Given the description of an element on the screen output the (x, y) to click on. 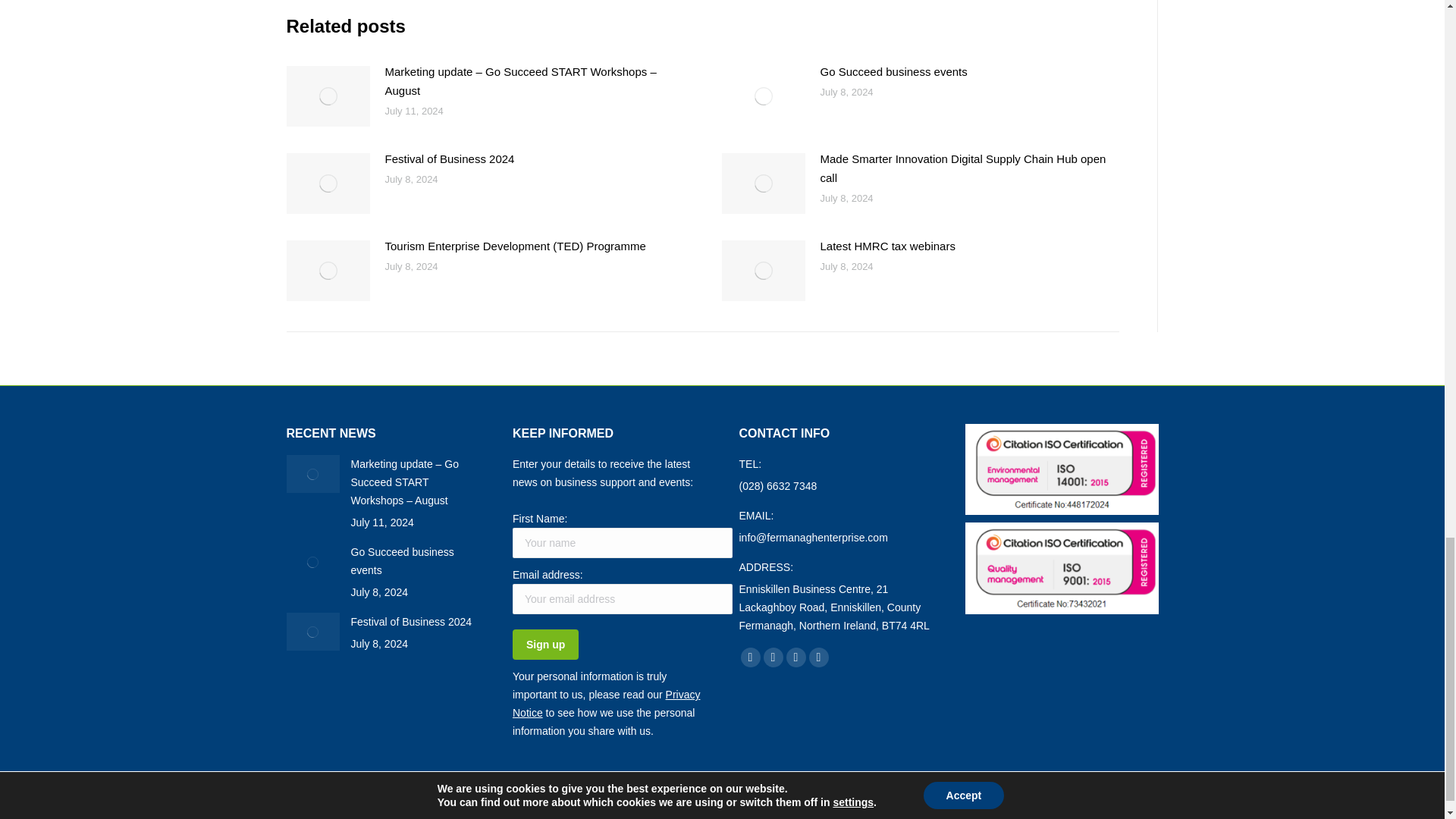
Sign up (545, 644)
